Given the description of an element on the screen output the (x, y) to click on. 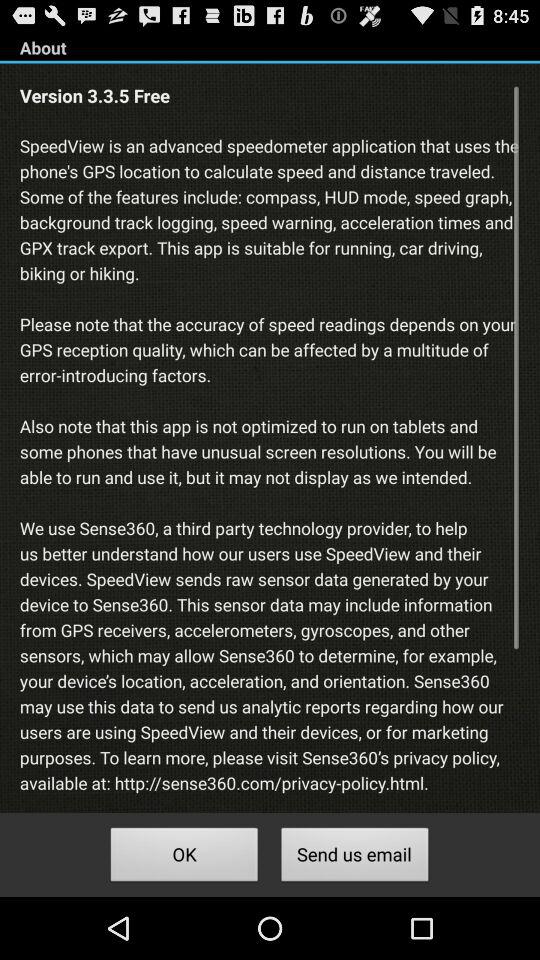
turn on icon to the right of ok (354, 857)
